Given the description of an element on the screen output the (x, y) to click on. 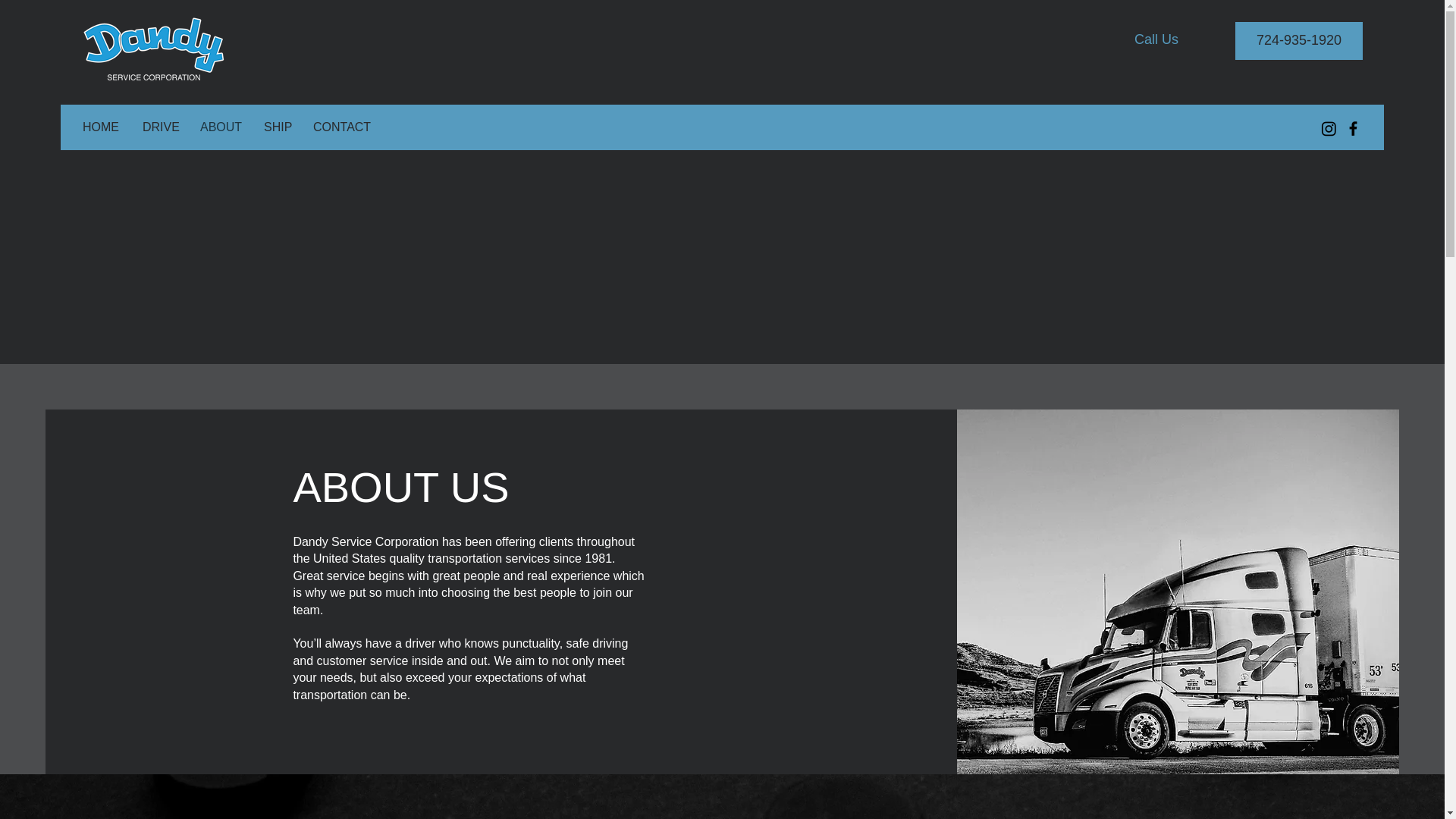
724-935-1920 (1298, 40)
ABOUT (220, 127)
HOME (101, 127)
SHIP (276, 127)
CONTACT (340, 127)
DRIVE (160, 127)
